Given the description of an element on the screen output the (x, y) to click on. 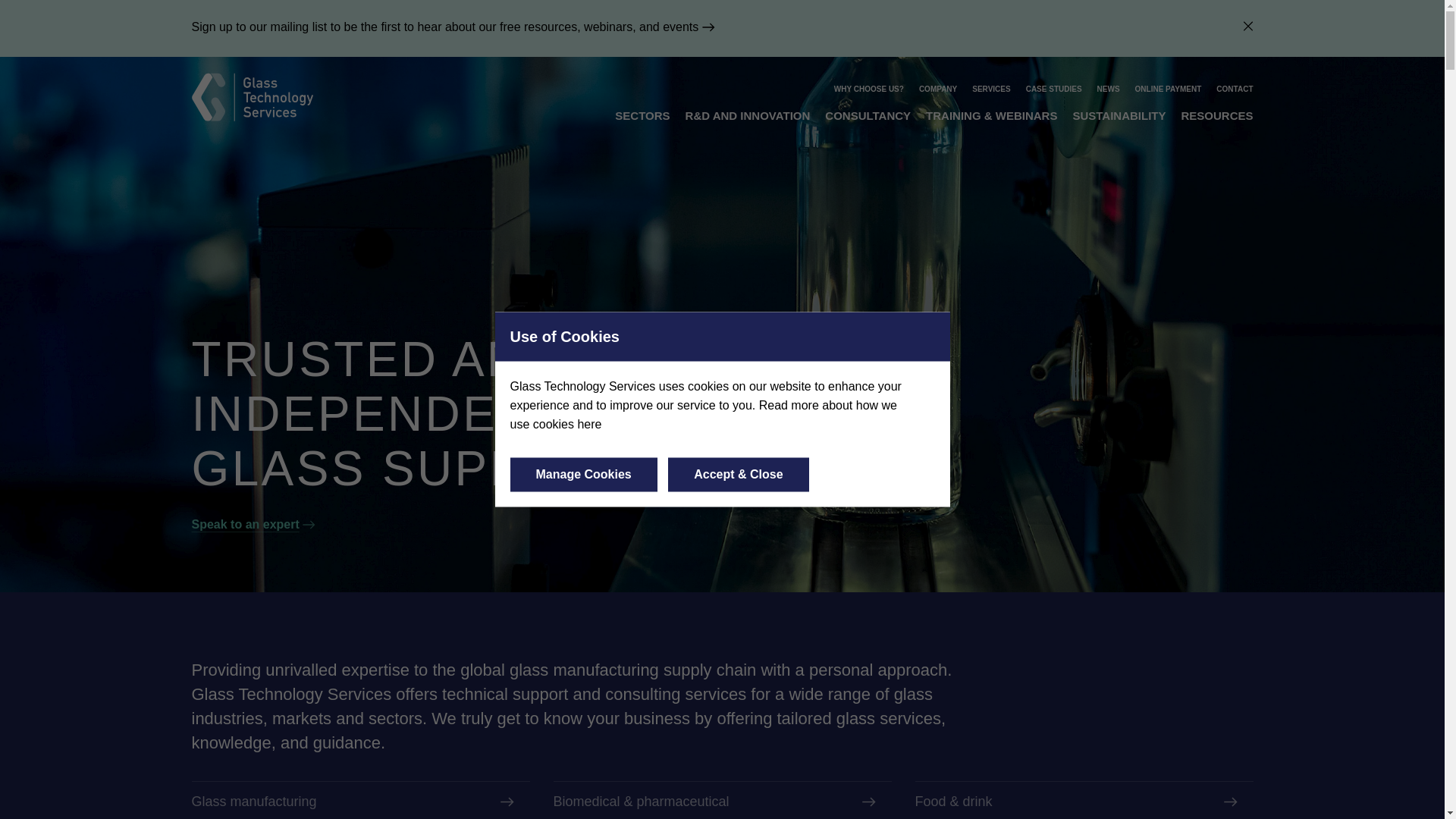
SERVICES (991, 89)
Glass manufacturing (359, 800)
CONSULTANCY (868, 115)
SUSTAINABILITY (1118, 115)
NEWS (1108, 89)
ONLINE PAYMENT (1168, 89)
COMPANY (937, 89)
RESOURCES (1216, 115)
CONTACT (1233, 89)
